Given the description of an element on the screen output the (x, y) to click on. 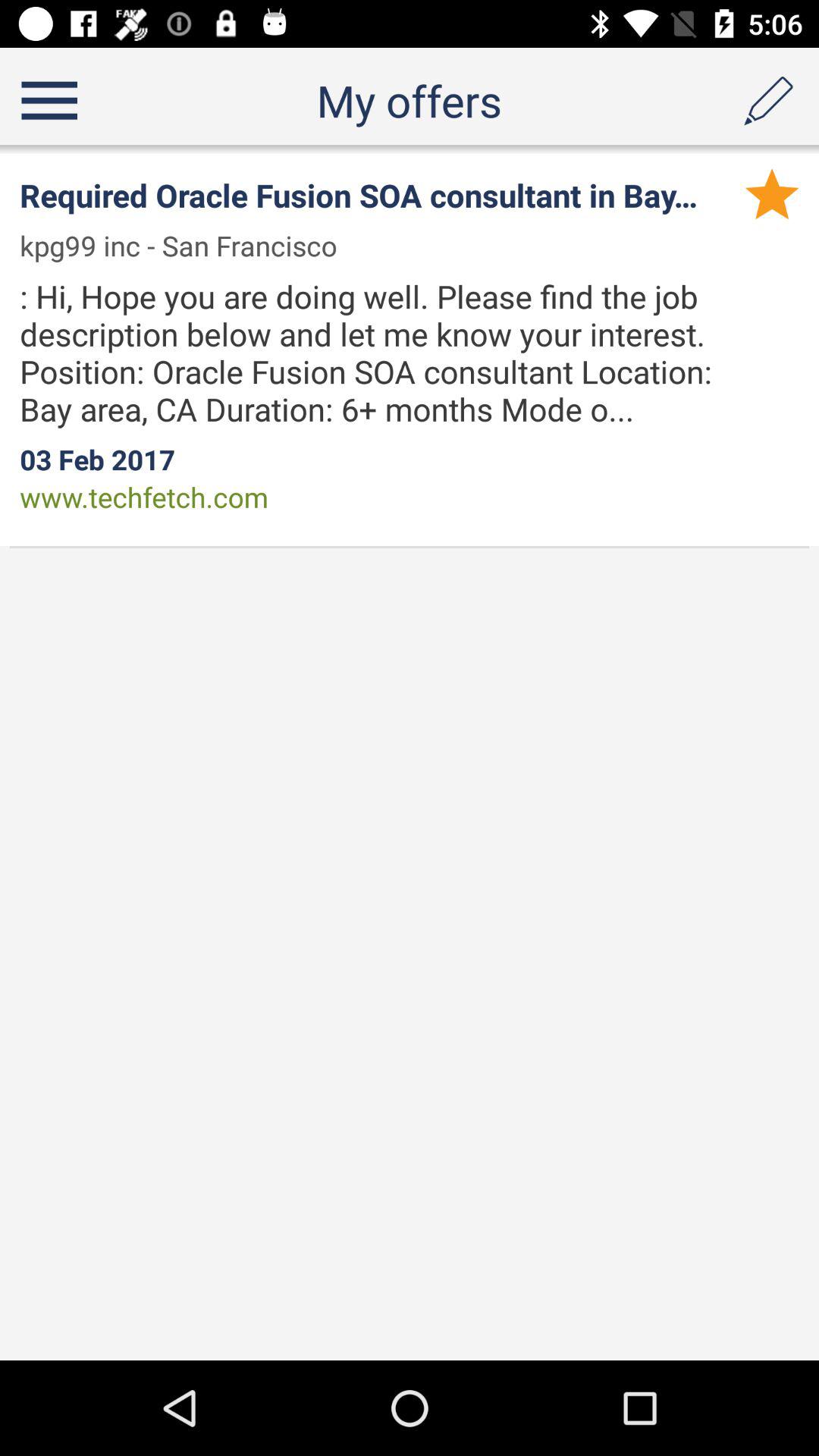
turn on item above the 03 feb 2017 (393, 352)
